Given the description of an element on the screen output the (x, y) to click on. 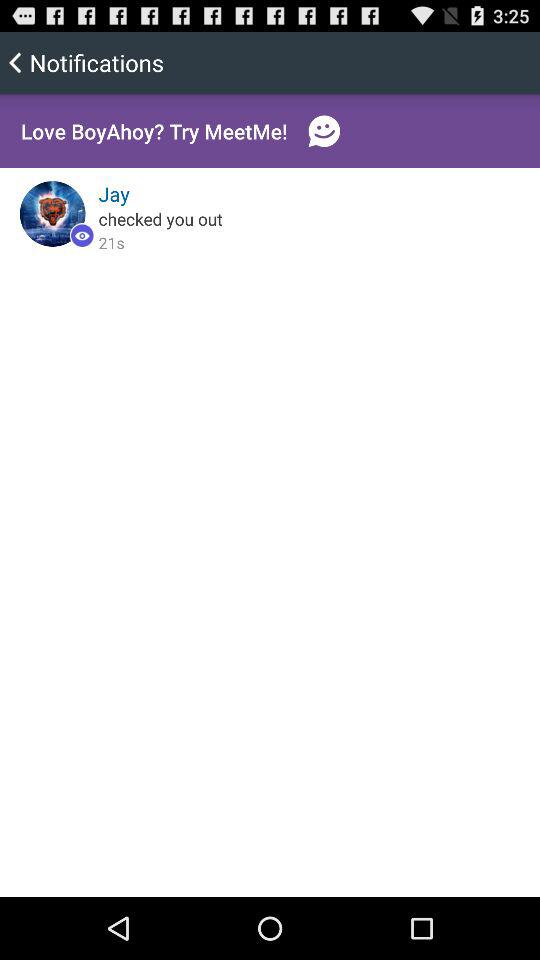
open app above 21s item (160, 218)
